Given the description of an element on the screen output the (x, y) to click on. 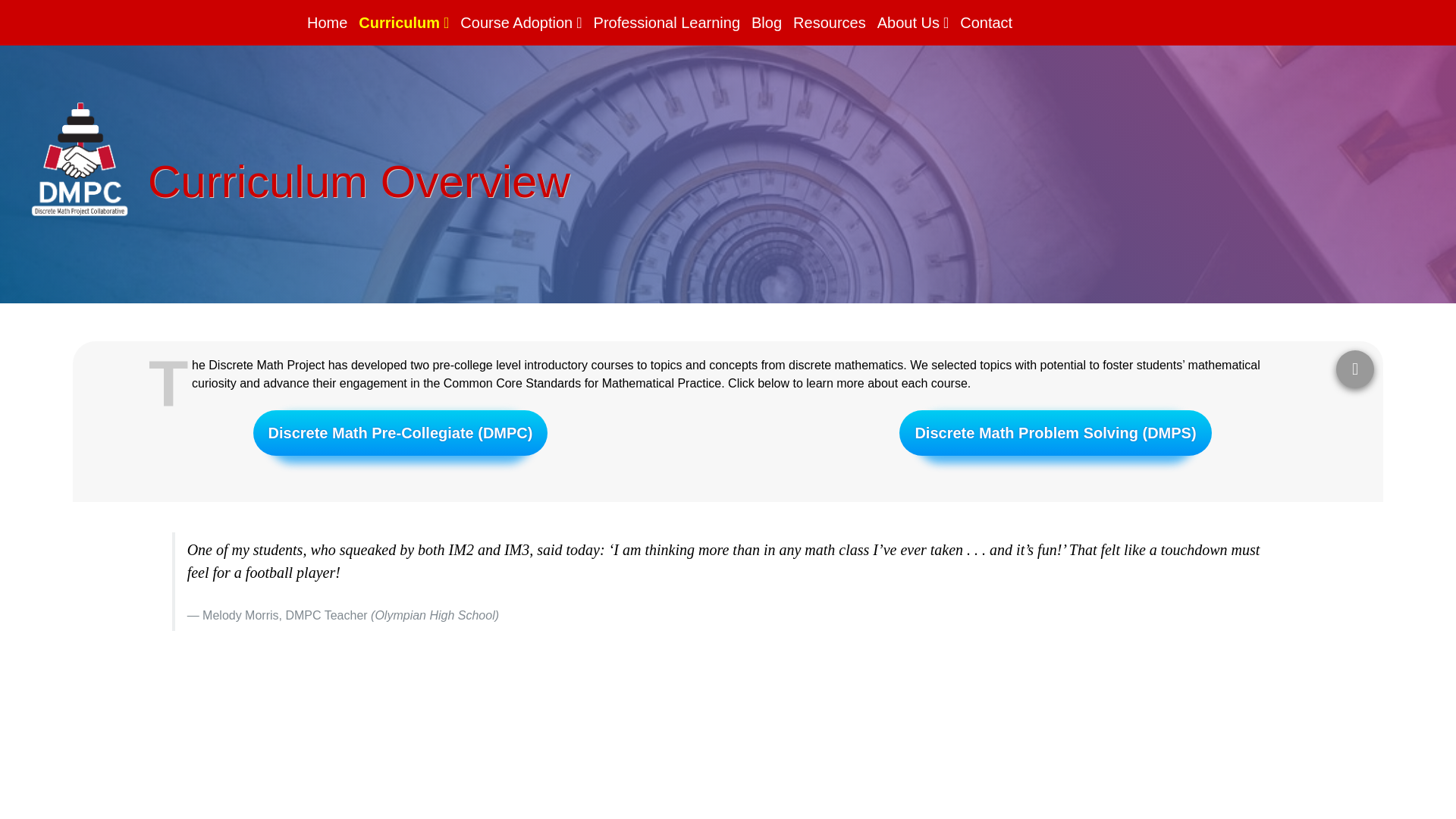
Professional Learning (666, 22)
Contact (985, 22)
Curriculum (403, 22)
Source Title (444, 614)
Blog (766, 22)
Resources (829, 22)
Home (327, 22)
About Us (913, 22)
Course Adoption (520, 22)
